Given the description of an element on the screen output the (x, y) to click on. 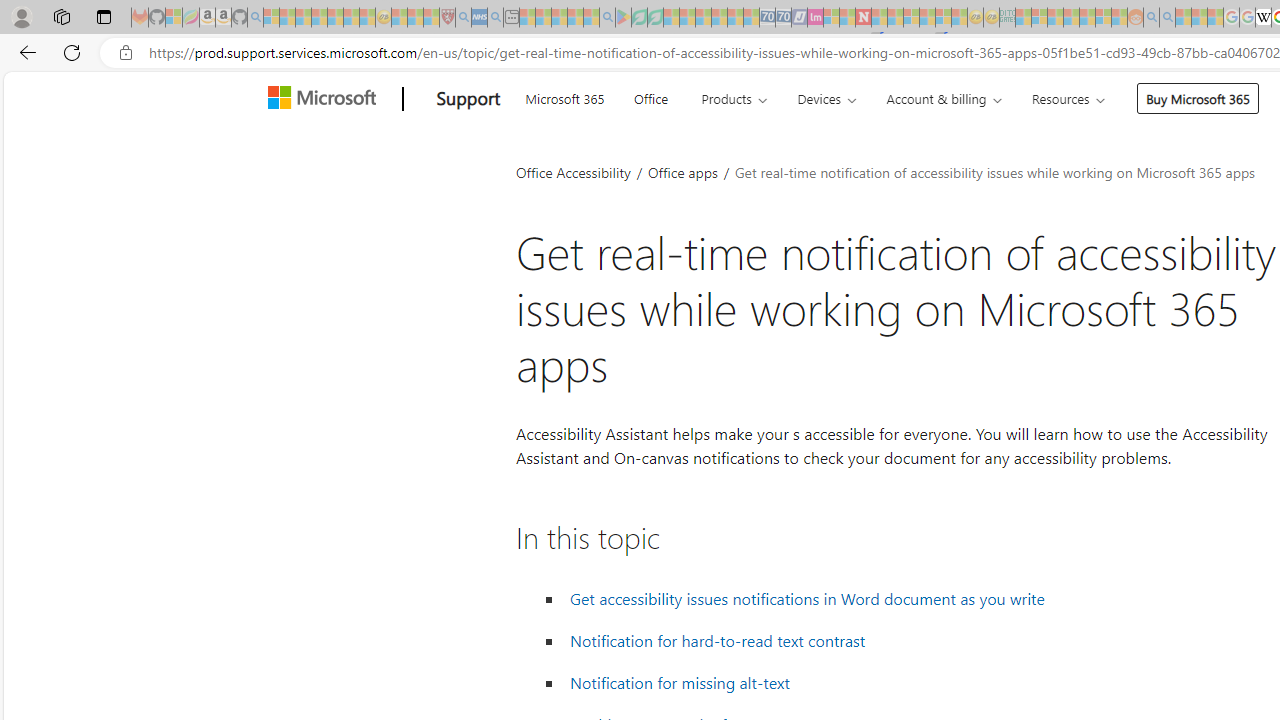
Support (468, 99)
Office (650, 96)
